Given the description of an element on the screen output the (x, y) to click on. 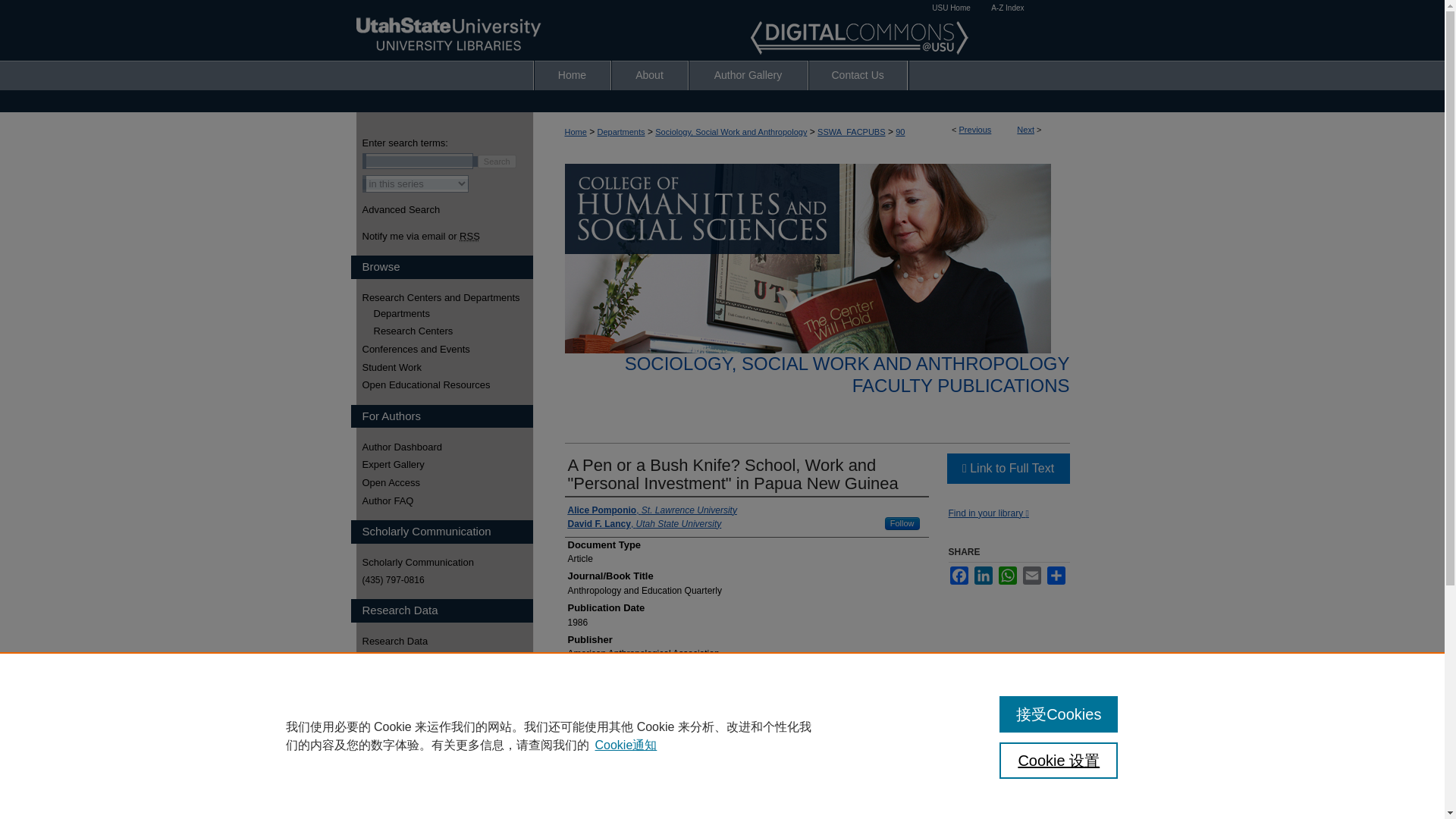
Link opens in new window (1007, 468)
Departments (620, 131)
Contact Us (857, 75)
David F. Lancy, Utah State University (643, 523)
LinkedIn (982, 575)
Find in your library (987, 512)
Facebook (958, 575)
A-Z Index (1006, 8)
Email or RSS Notifications (447, 236)
OpenURL (987, 512)
USU Home (951, 8)
Follow David F. Lancy (902, 522)
Email (1031, 575)
SOCIOLOGY, SOCIAL WORK AND ANTHROPOLOGY FACULTY PUBLICATIONS (847, 373)
Search (496, 161)
